Given the description of an element on the screen output the (x, y) to click on. 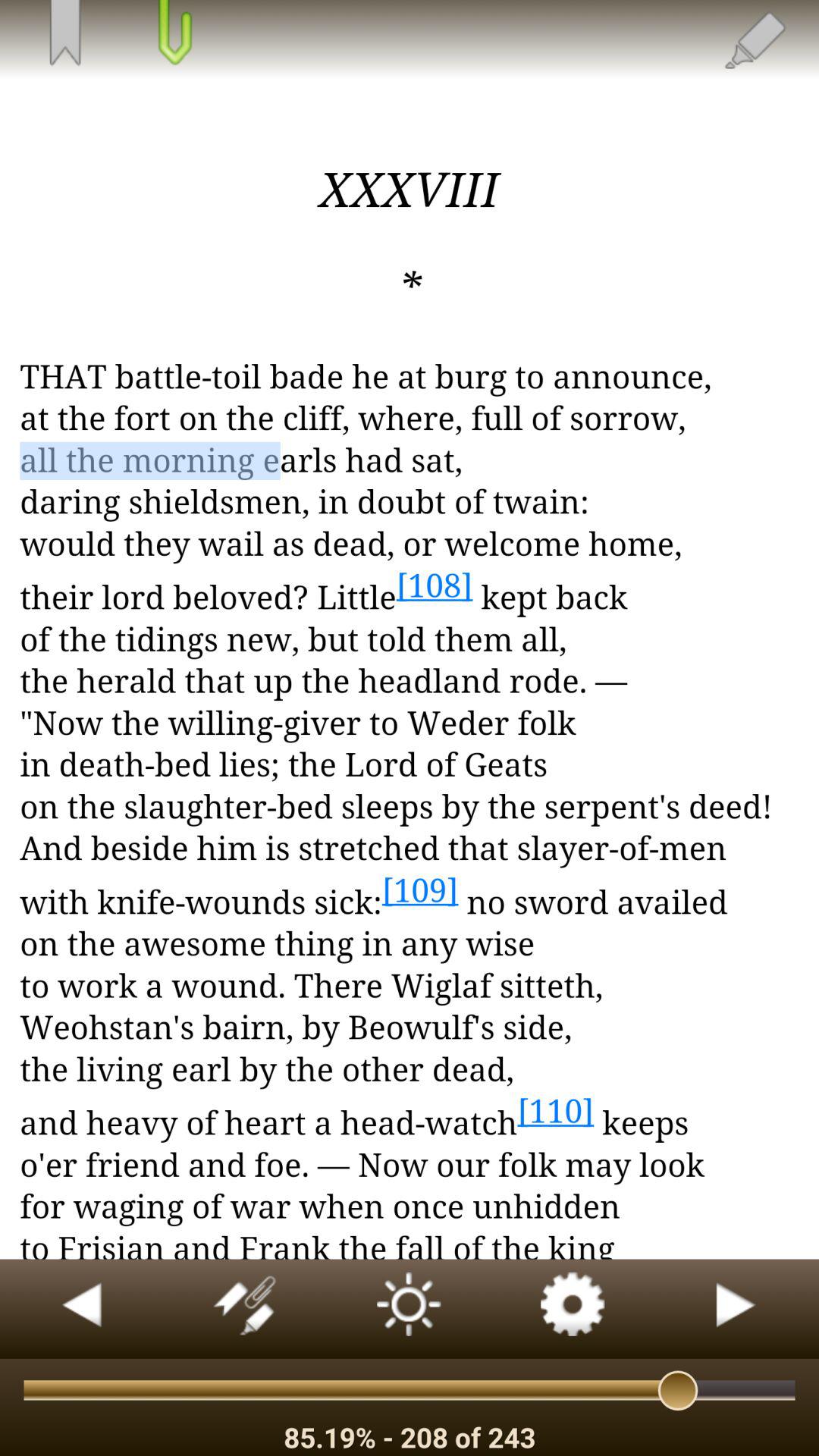
screen brightness (409, 1308)
